Given the description of an element on the screen output the (x, y) to click on. 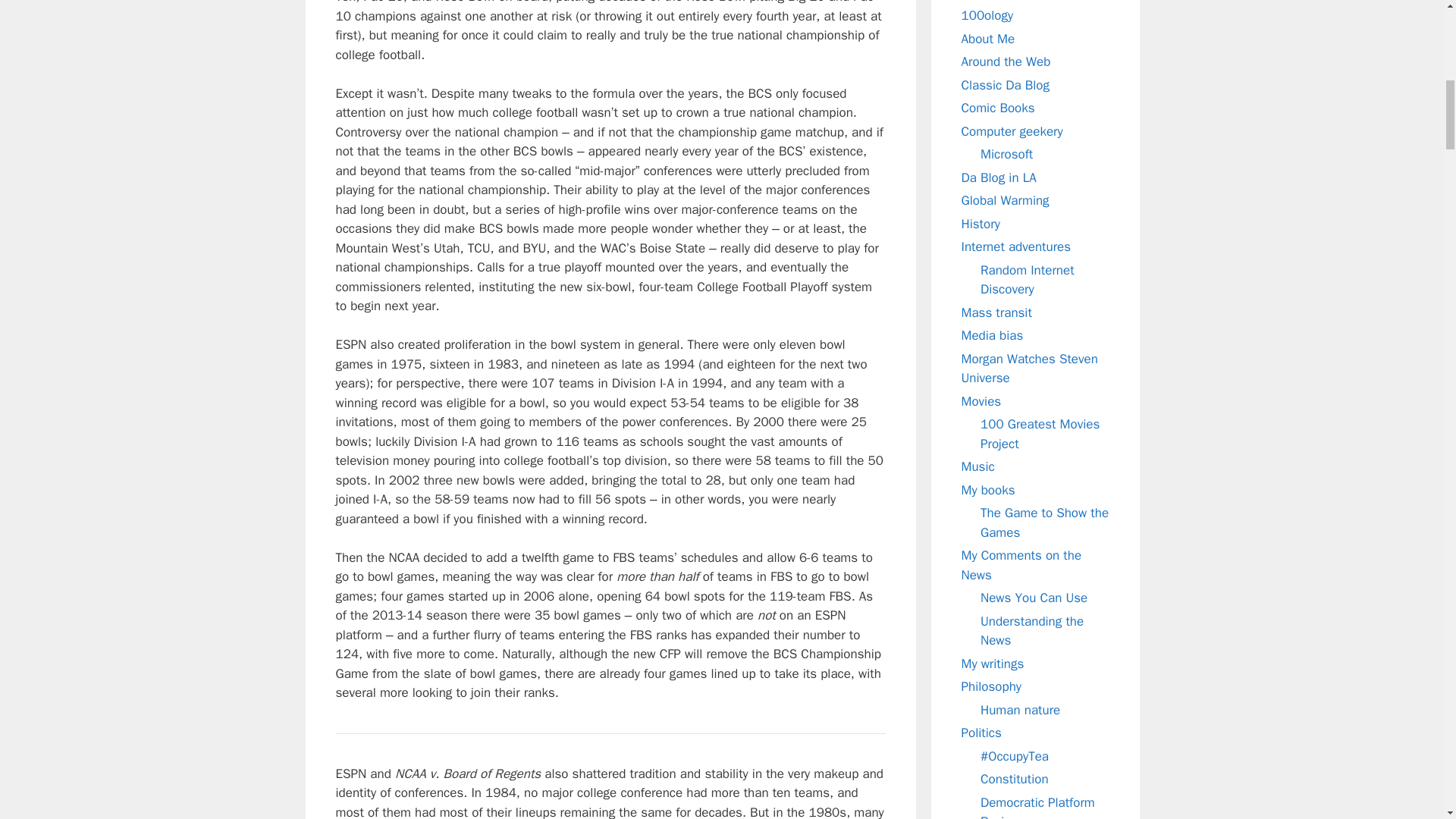
Around the Web (1005, 61)
Morgan Watches Steven Universe (1028, 367)
Classic Da Blog (1004, 84)
About Me (987, 37)
100ology (986, 15)
Microsoft (1005, 154)
Comic Books (997, 107)
Mass transit (996, 312)
Internet adventures (1015, 246)
Media bias (991, 335)
